Given the description of an element on the screen output the (x, y) to click on. 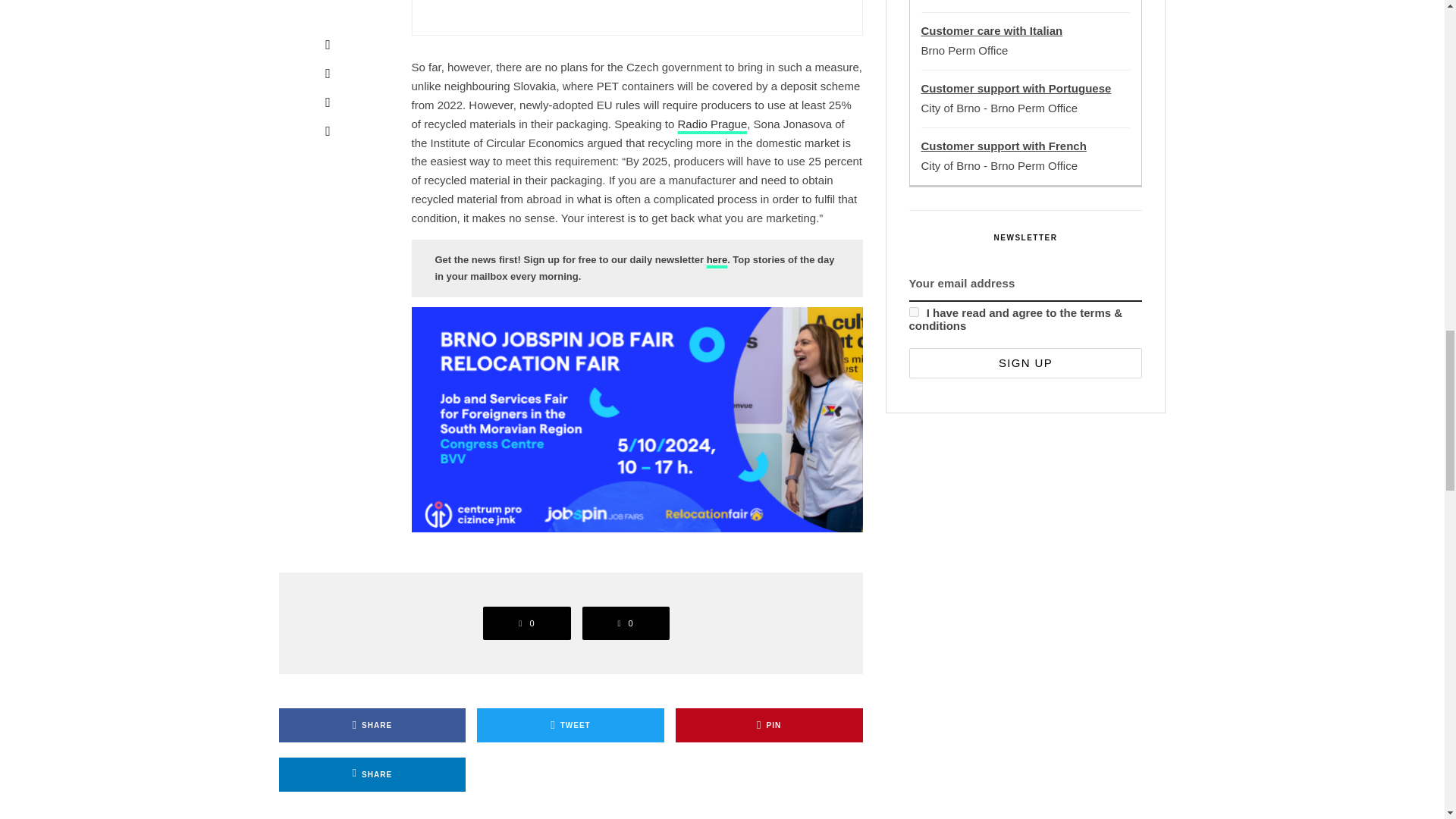
1 (913, 311)
Sign up (1024, 362)
